Given the description of an element on the screen output the (x, y) to click on. 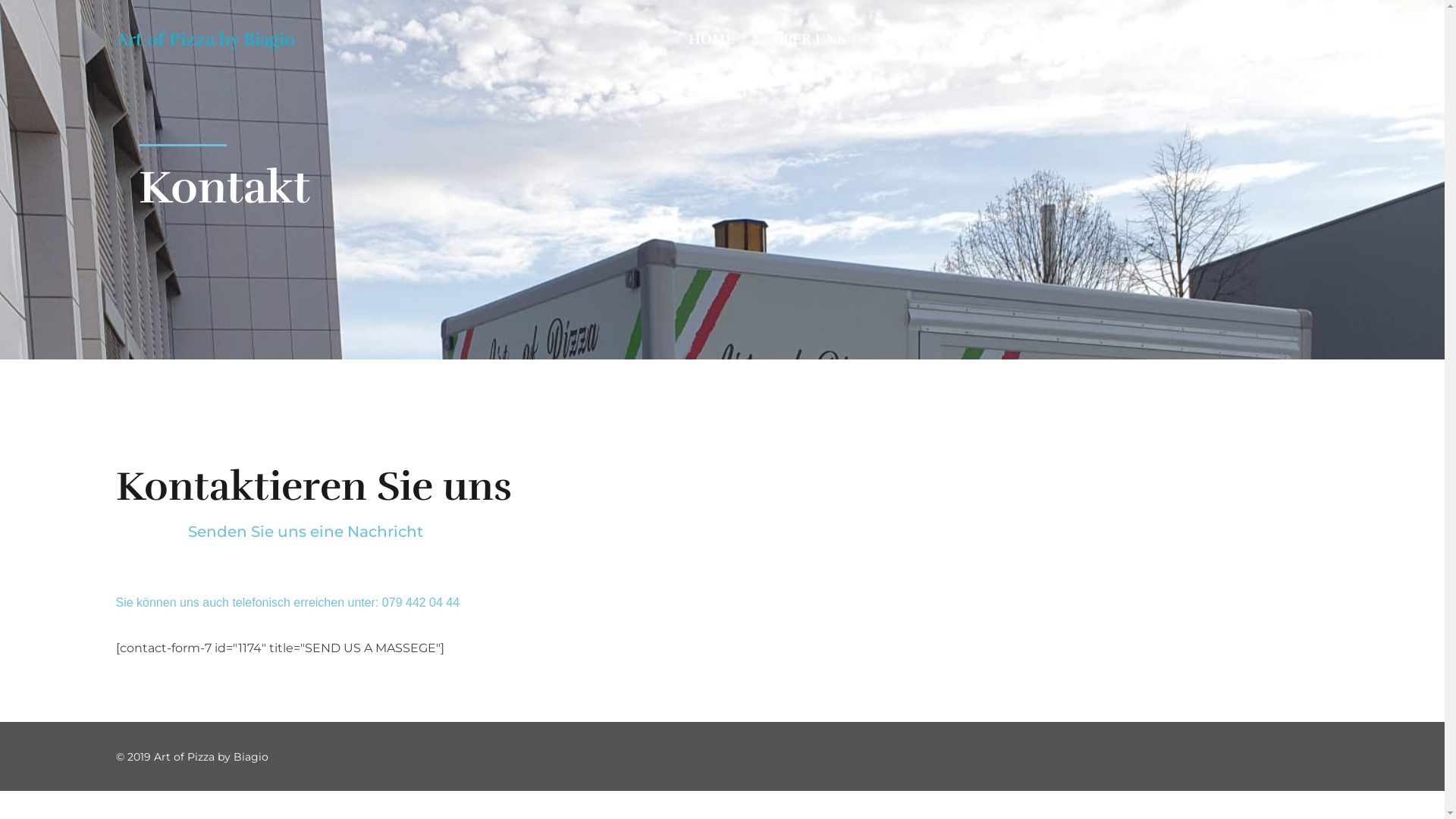
KONTAKT Element type: text (1231, 39)
CATERING Element type: text (1129, 39)
HOME Element type: text (720, 39)
Art of Pizza by Biagio Element type: text (204, 39)
STANDORTE Element type: text (1010, 39)
